Given the description of an element on the screen output the (x, y) to click on. 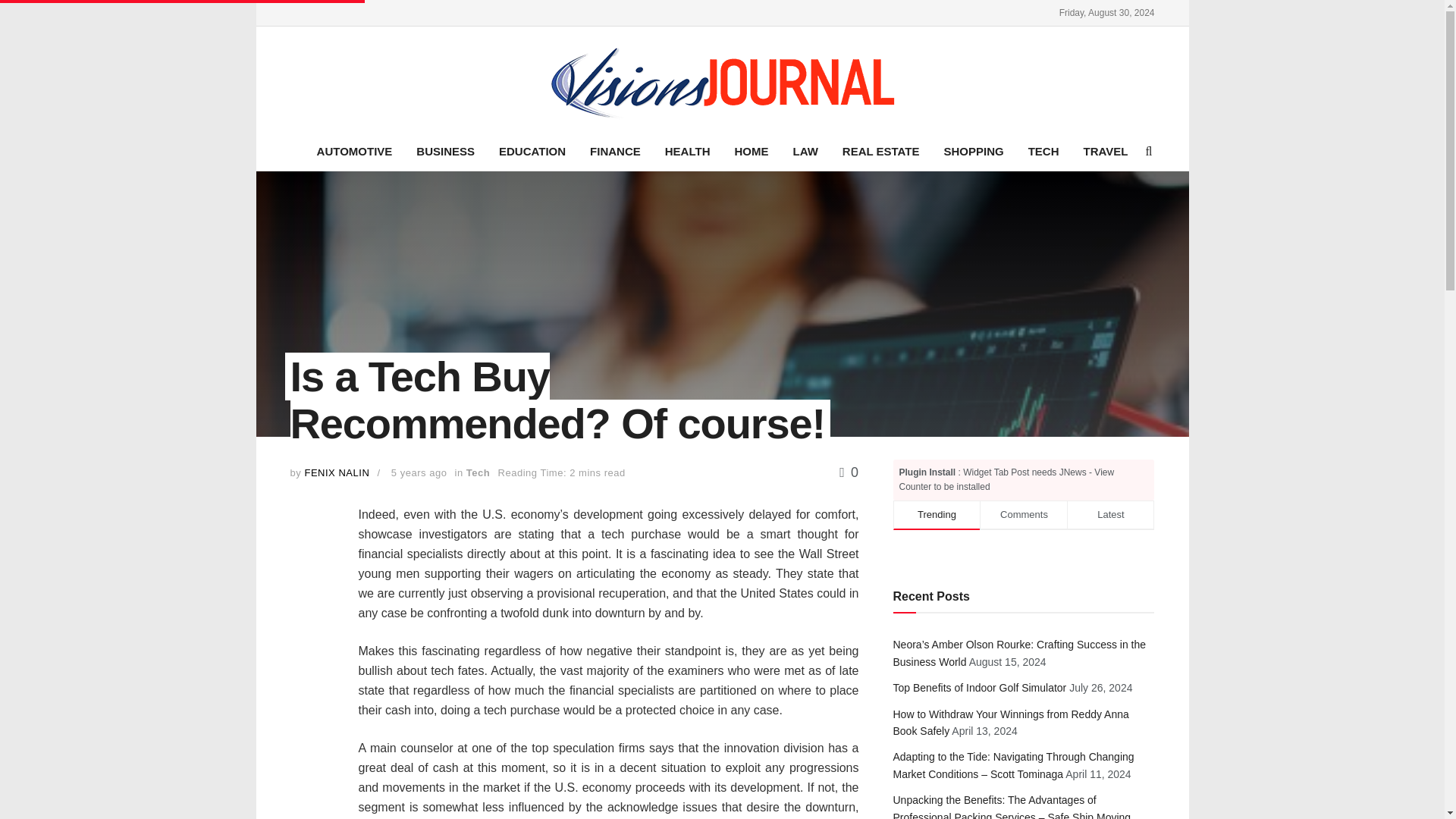
0 (849, 472)
LAW (804, 151)
FENIX NALIN (336, 472)
EDUCATION (532, 151)
SHOPPING (972, 151)
FINANCE (615, 151)
AUTOMOTIVE (354, 151)
TECH (1043, 151)
HOME (751, 151)
REAL ESTATE (880, 151)
